Given the description of an element on the screen output the (x, y) to click on. 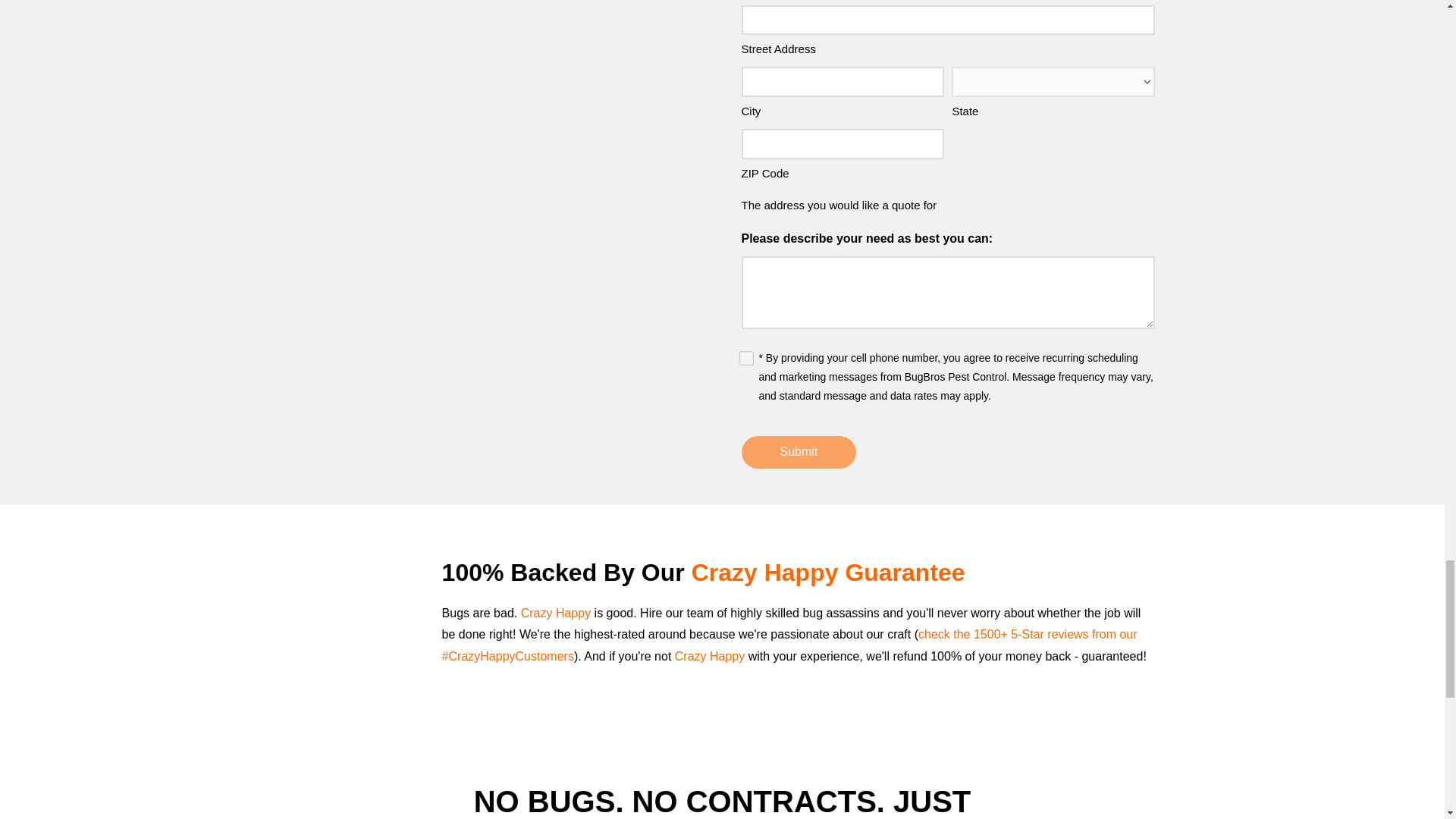
Submit (799, 451)
